Given the description of an element on the screen output the (x, y) to click on. 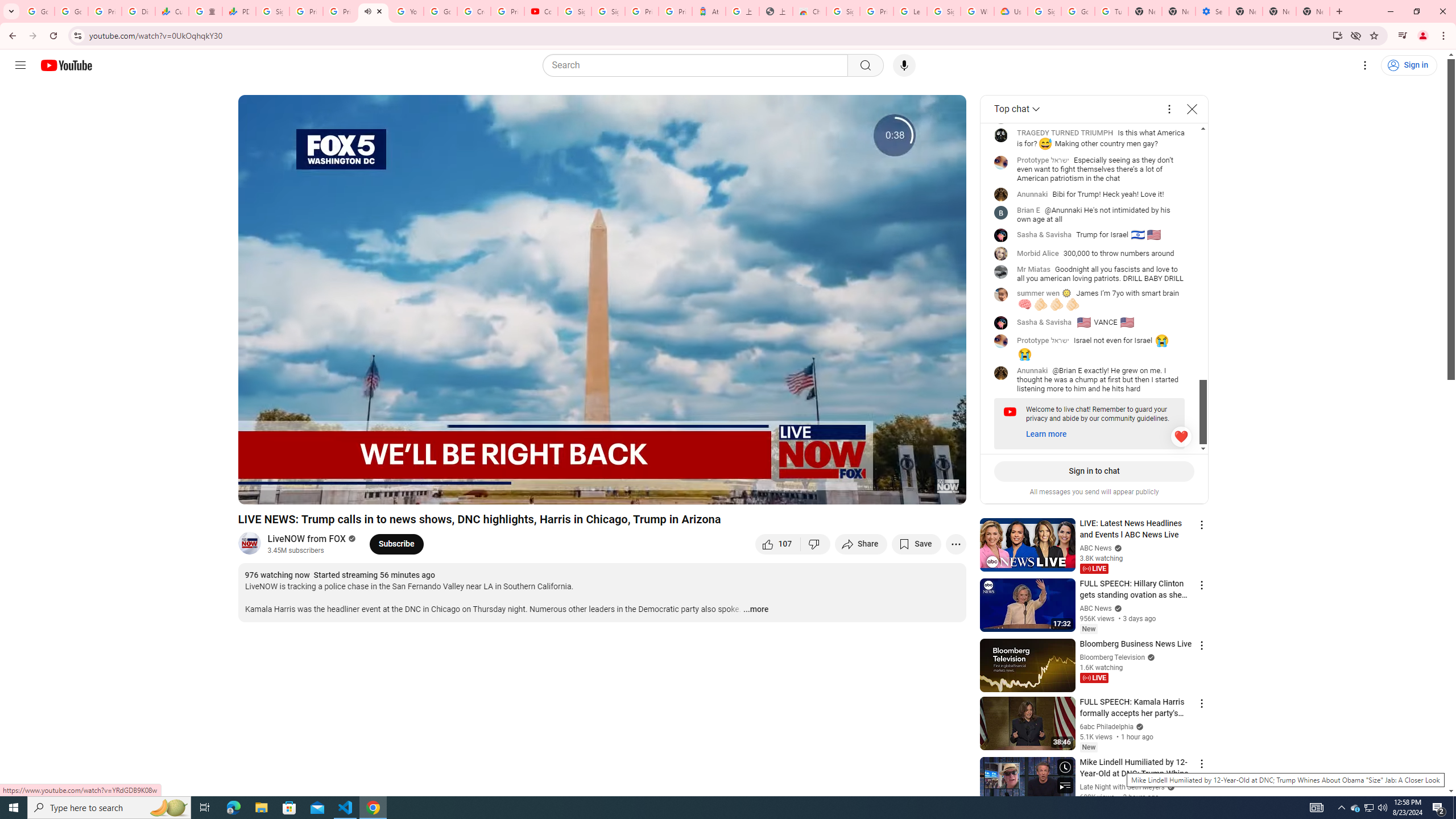
Sign in - Google Accounts (943, 11)
